Given the description of an element on the screen output the (x, y) to click on. 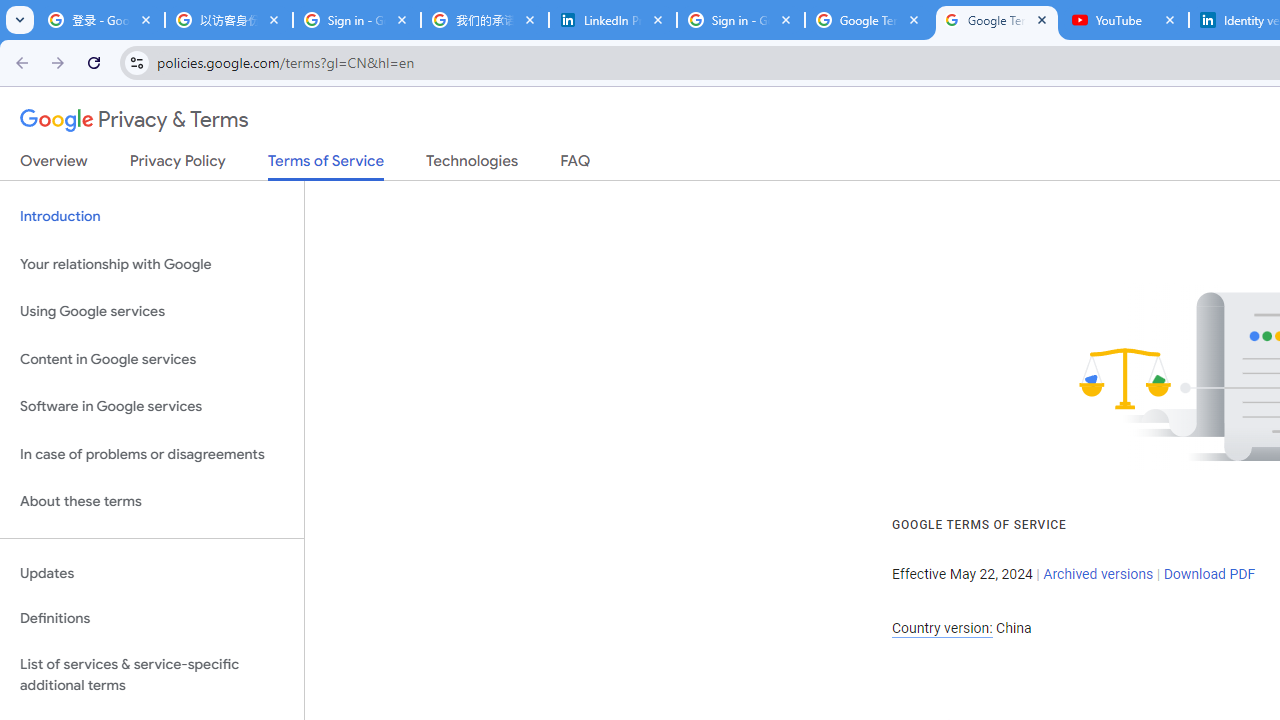
Download PDF (1209, 574)
Using Google services (152, 312)
Reload (93, 62)
Close (1169, 19)
Terms of Service (326, 166)
Privacy Policy (177, 165)
Country version: (942, 628)
Your relationship with Google (152, 263)
View site information (136, 62)
Forward (57, 62)
